Given the description of an element on the screen output the (x, y) to click on. 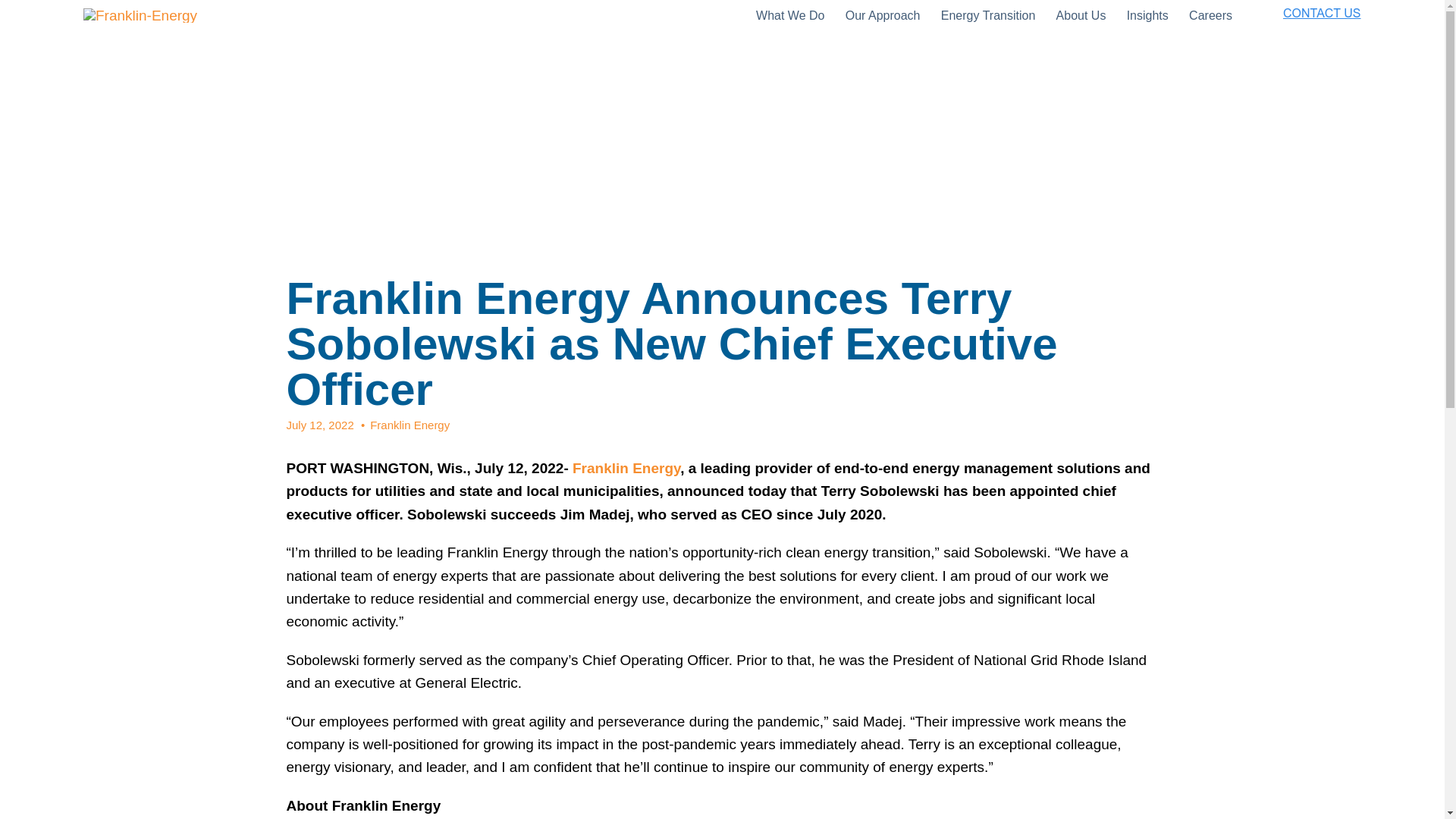
Energy Transition (992, 15)
What We Do (793, 15)
About Us (1086, 15)
Our Approach (887, 15)
Careers (1215, 15)
Insights (1151, 15)
